Given the description of an element on the screen output the (x, y) to click on. 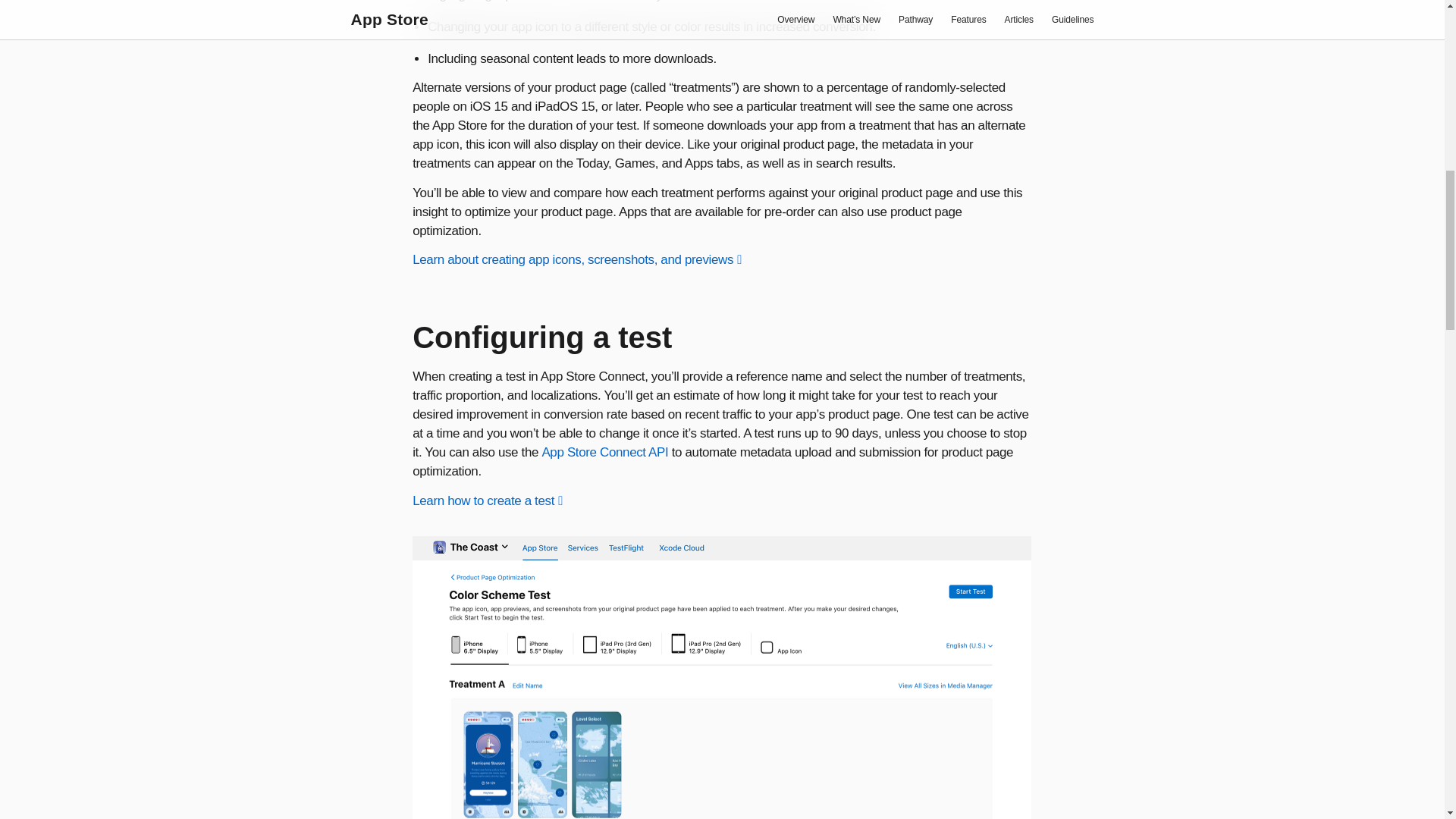
Learn how to create a test (487, 500)
App Store Connect API (604, 452)
Learn about creating app icons, screenshots, and previews (576, 259)
